Given the description of an element on the screen output the (x, y) to click on. 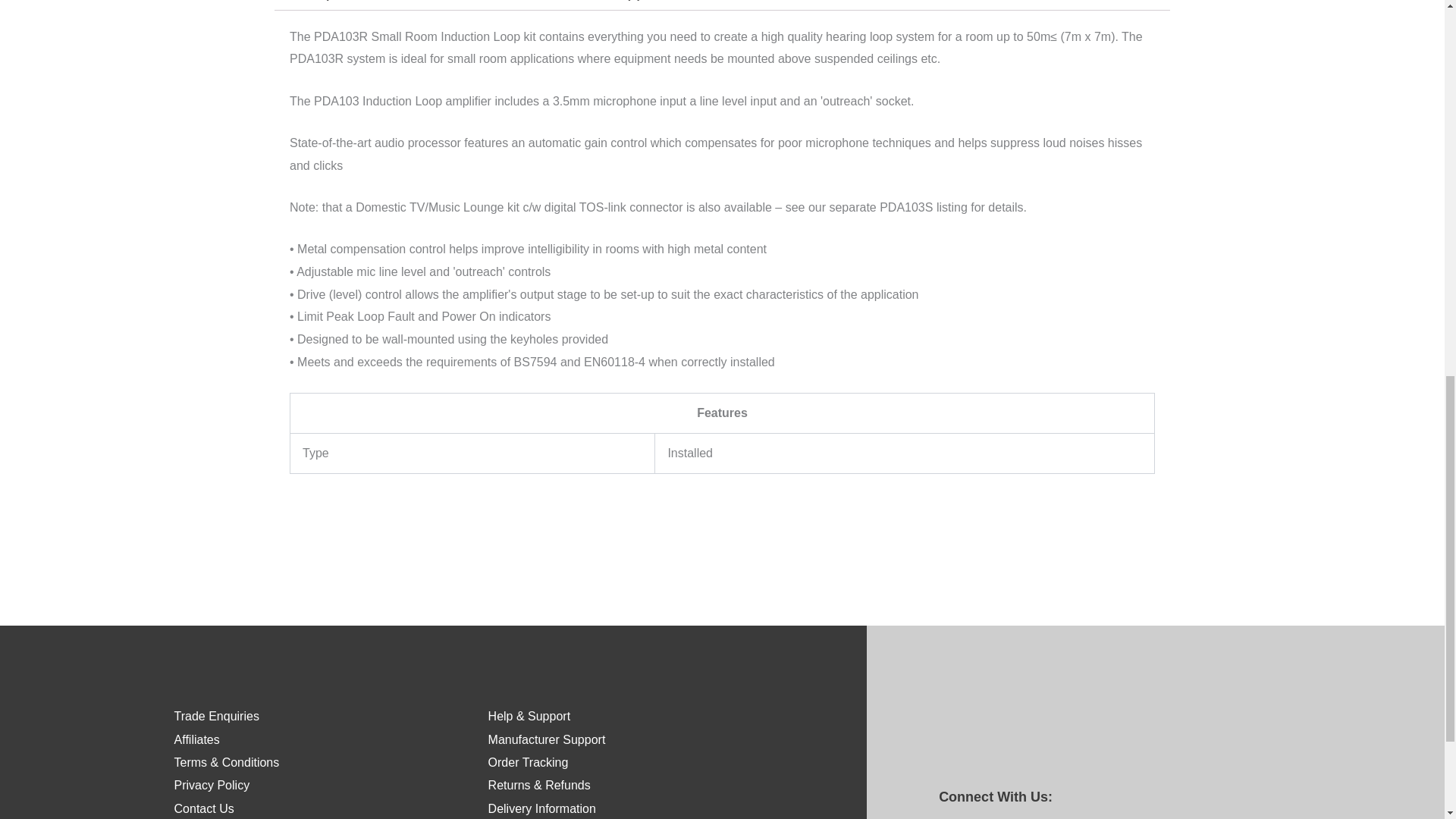
Affiliates (196, 739)
Privacy Policy (212, 784)
Trade Enquiries (216, 716)
Order Tracking (528, 762)
Contact Us (204, 808)
Manufacturer Support (546, 739)
